Given the description of an element on the screen output the (x, y) to click on. 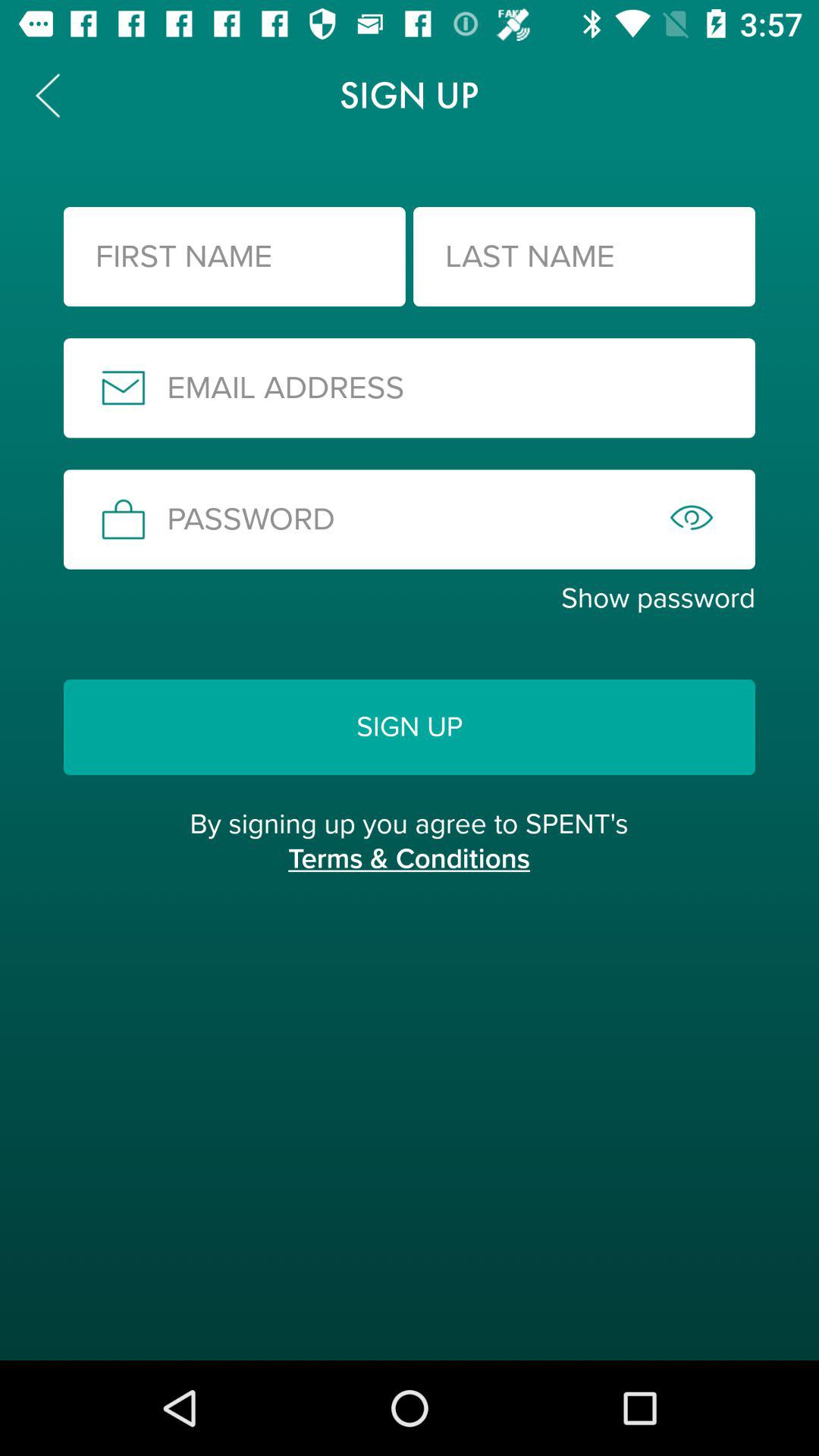
enter email (409, 387)
